Given the description of an element on the screen output the (x, y) to click on. 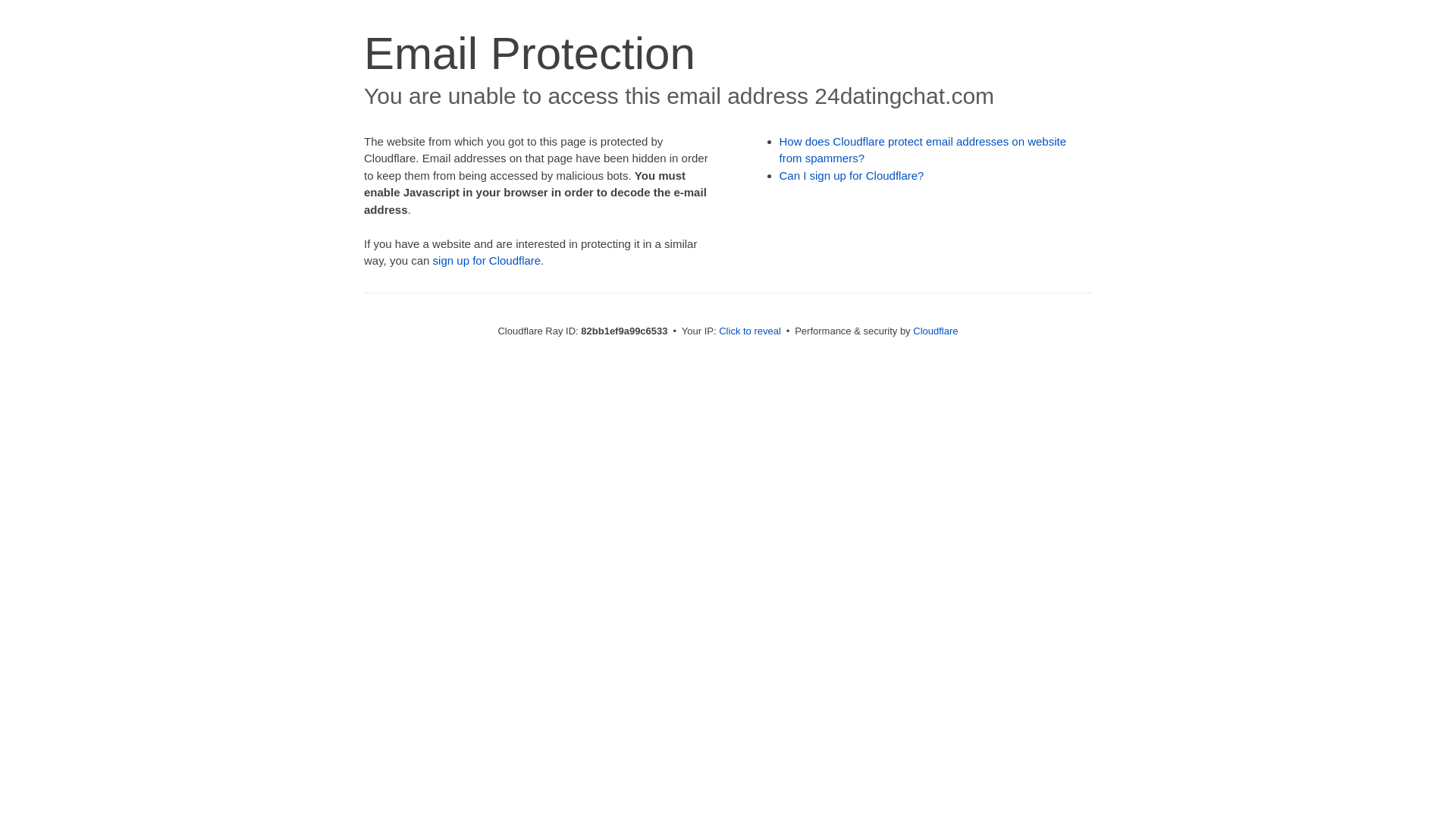
sign up for Cloudflare Element type: text (487, 260)
Can I sign up for Cloudflare? Element type: text (851, 175)
Click to reveal Element type: text (749, 330)
Cloudflare Element type: text (935, 330)
